Given the description of an element on the screen output the (x, y) to click on. 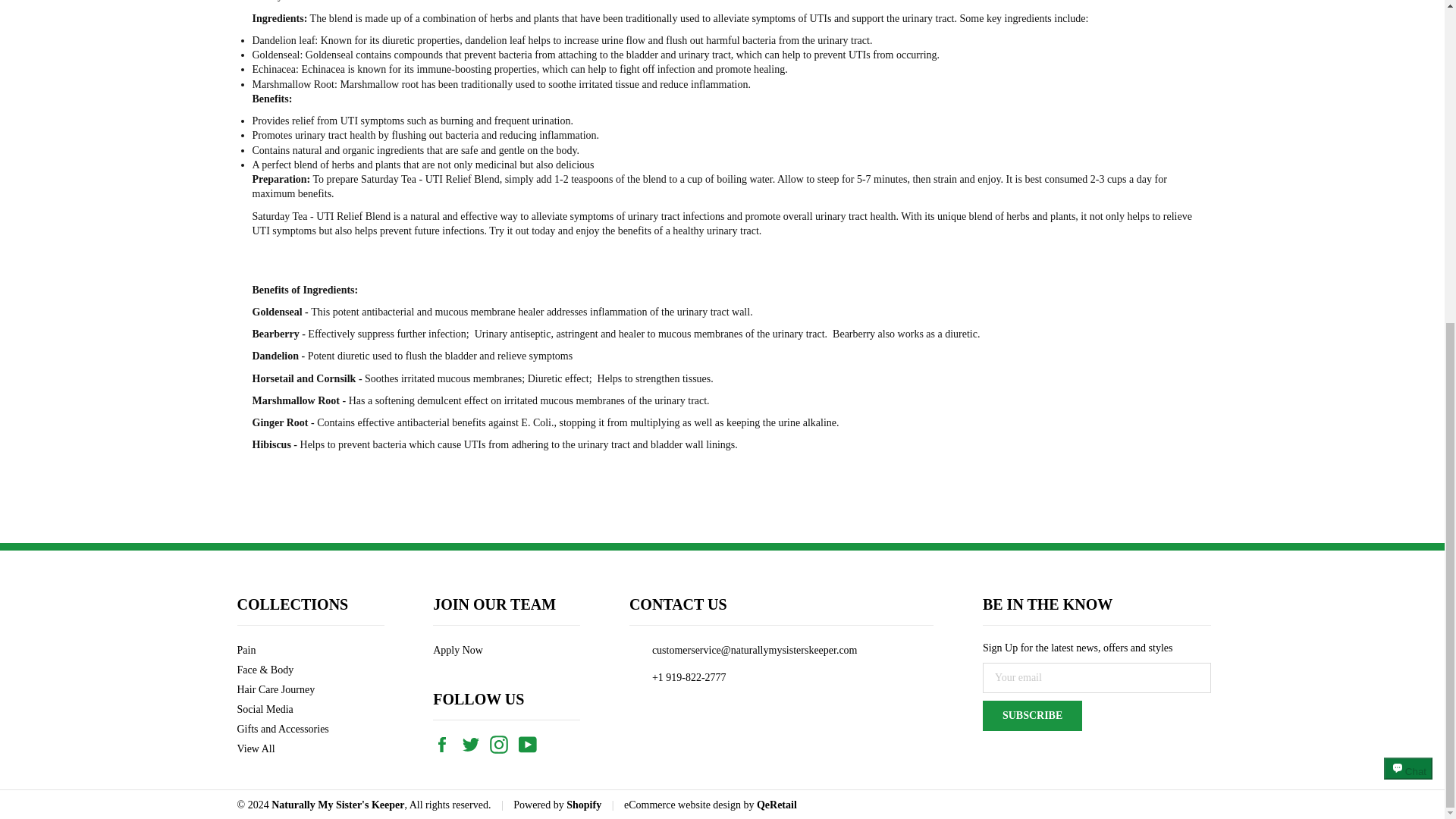
Naturally My Sister's Keeper on Instagram (502, 743)
Shopify online store chat (1408, 255)
Naturally My Sister's Keeper on Twitter (474, 743)
Naturally My Sister's Keeper on YouTube (531, 743)
Naturally My Sister's Keeper on Facebook (445, 743)
